Given the description of an element on the screen output the (x, y) to click on. 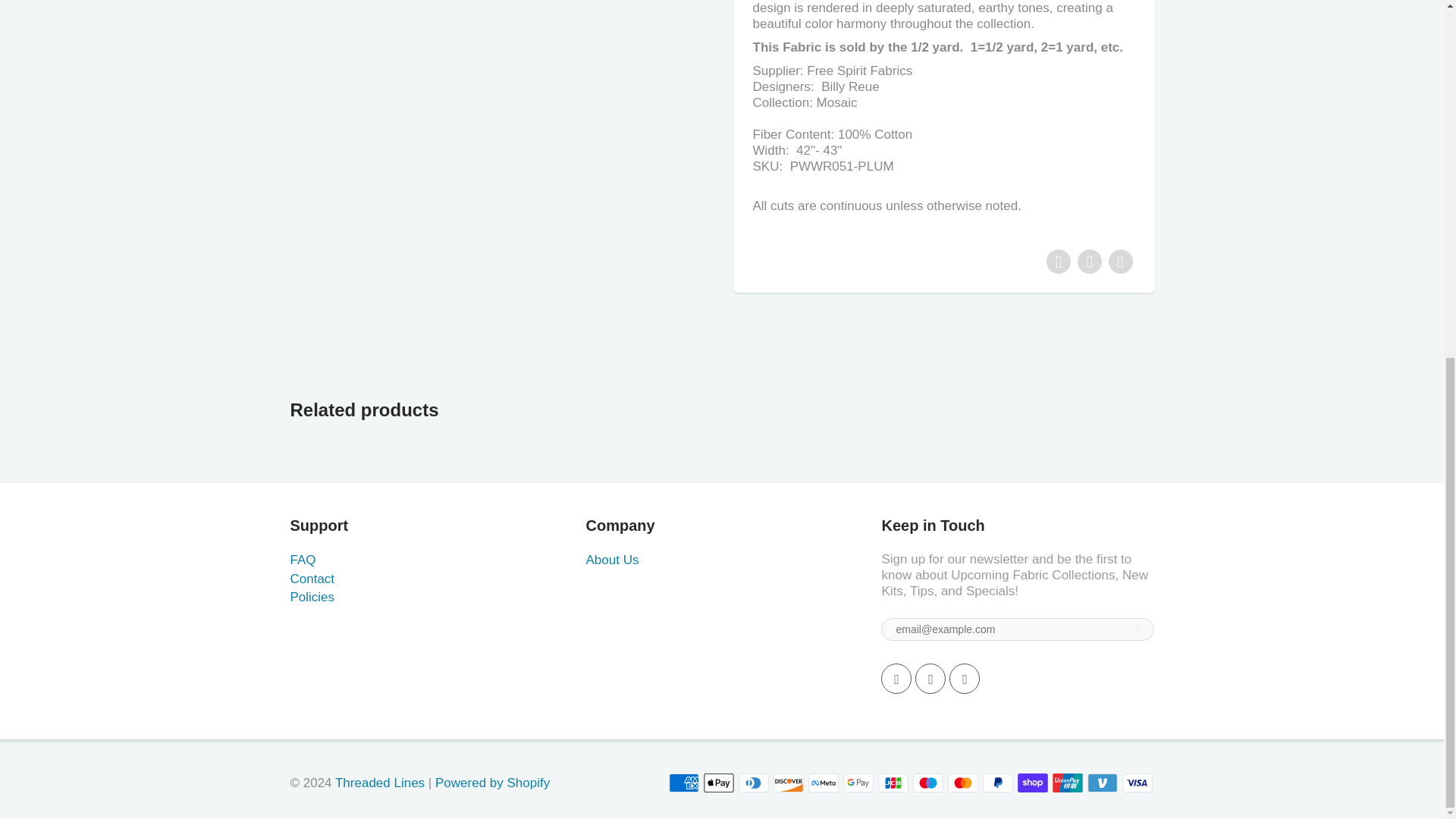
PayPal (997, 782)
Venmo (1102, 782)
Apple Pay (718, 782)
Google Pay (858, 782)
Facebook (895, 678)
Maestro (927, 782)
Union Pay (1067, 782)
American Express (683, 782)
Shop Pay (1032, 782)
Discover (788, 782)
Diners Club (753, 782)
Mastercard (962, 782)
Visa (1137, 782)
JCB (892, 782)
Instagram (964, 678)
